Given the description of an element on the screen output the (x, y) to click on. 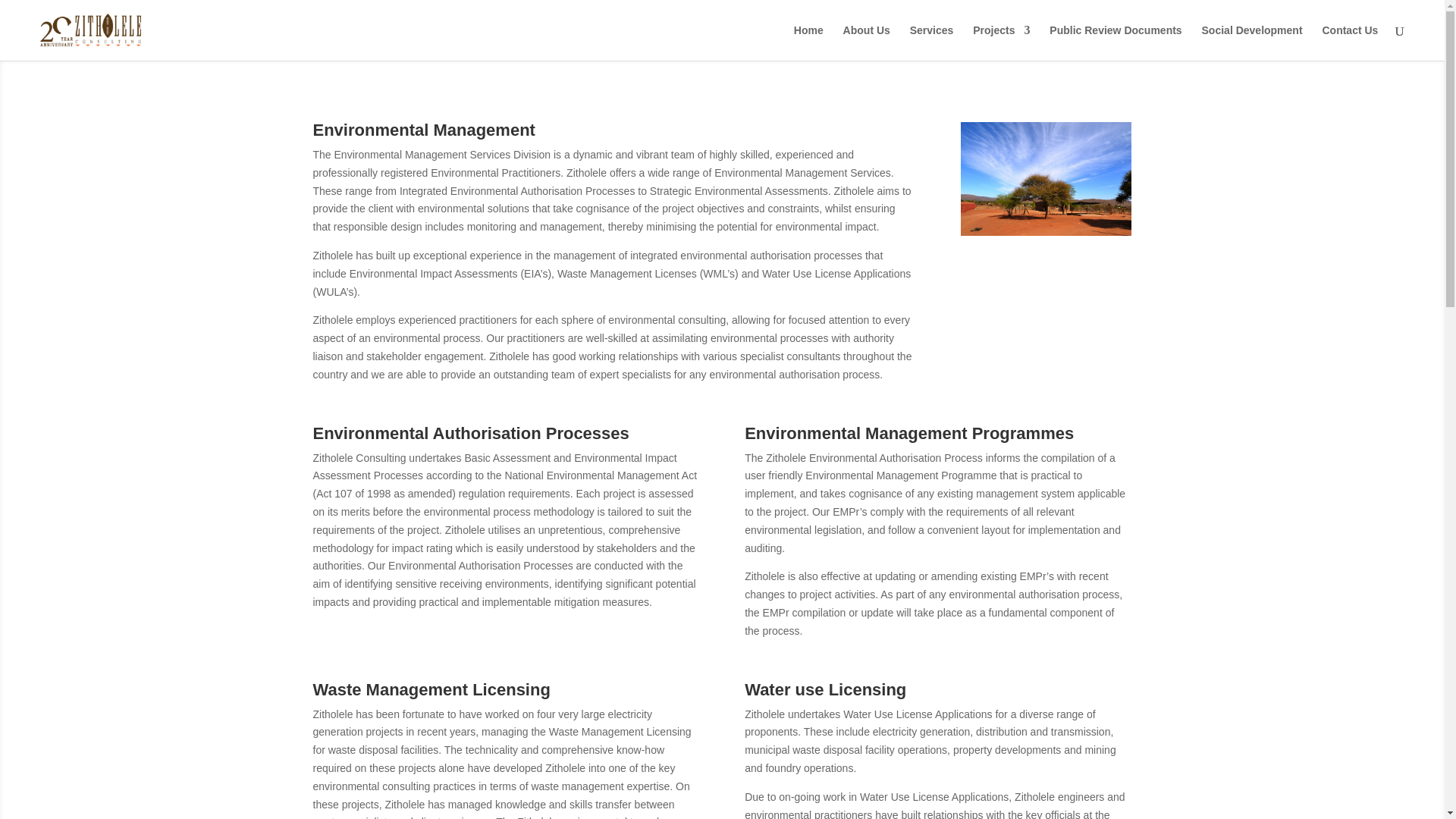
Projects (1000, 42)
Public Review Documents (1114, 42)
Contact Us (1349, 42)
About Us (866, 42)
Social Development (1252, 42)
Services (931, 42)
